Given the description of an element on the screen output the (x, y) to click on. 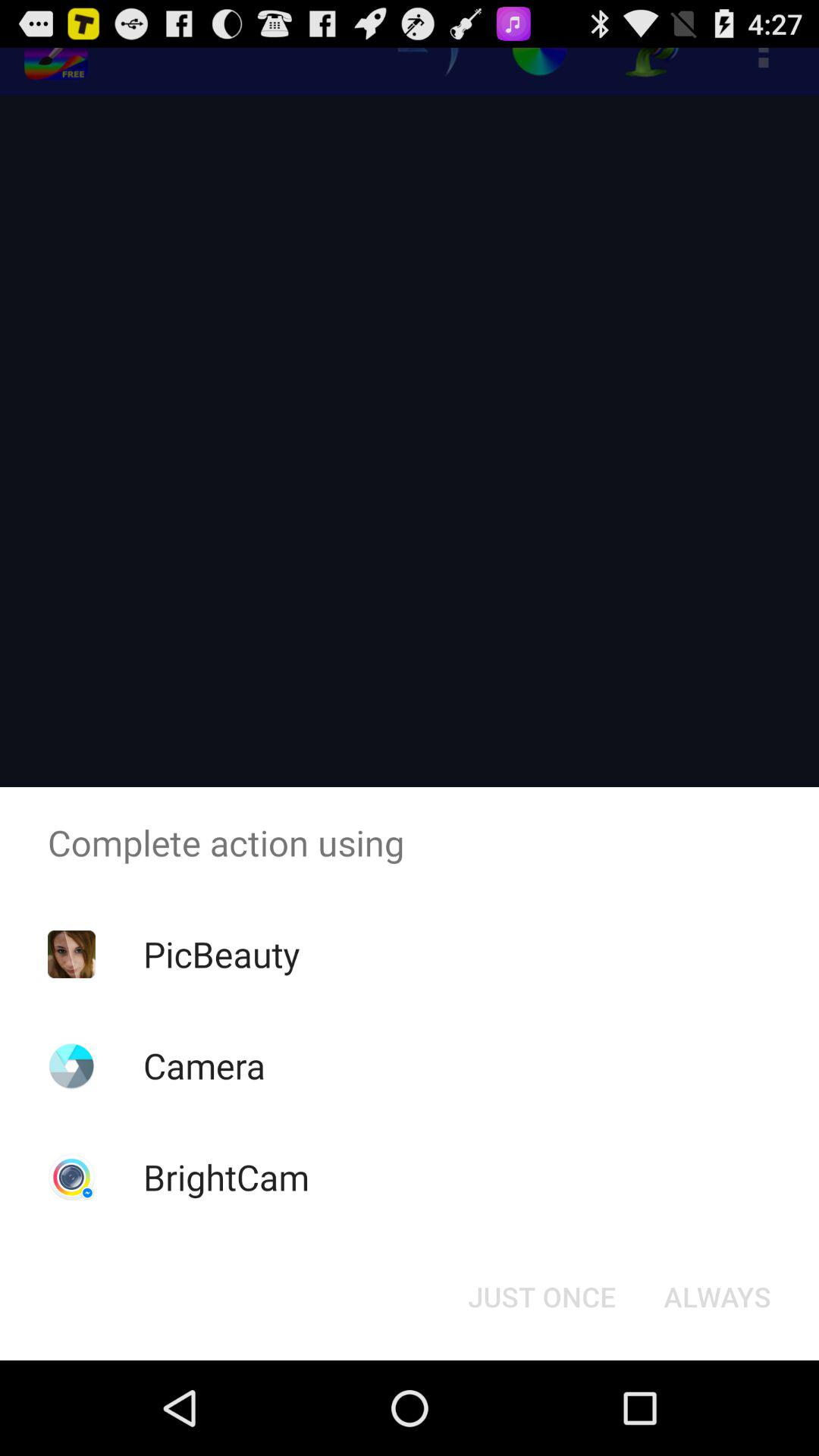
tap just once icon (541, 1296)
